Given the description of an element on the screen output the (x, y) to click on. 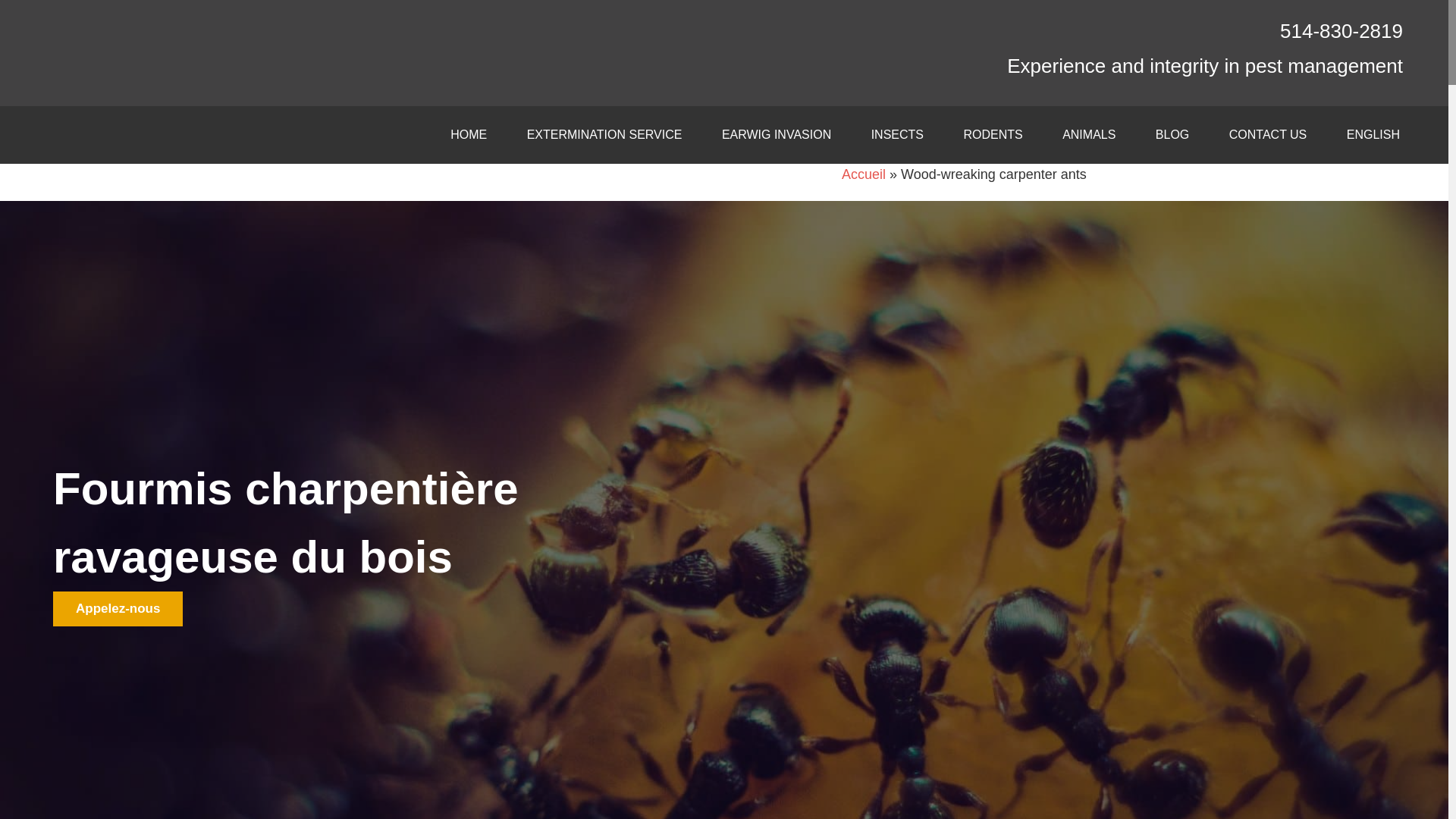
INSECTS (897, 134)
RODENTS (992, 134)
EXTERMINATION SERVICE (604, 134)
English (1372, 134)
514-830-2819 (1341, 30)
HOME (468, 134)
EARWIG INVASION (775, 134)
